Given the description of an element on the screen output the (x, y) to click on. 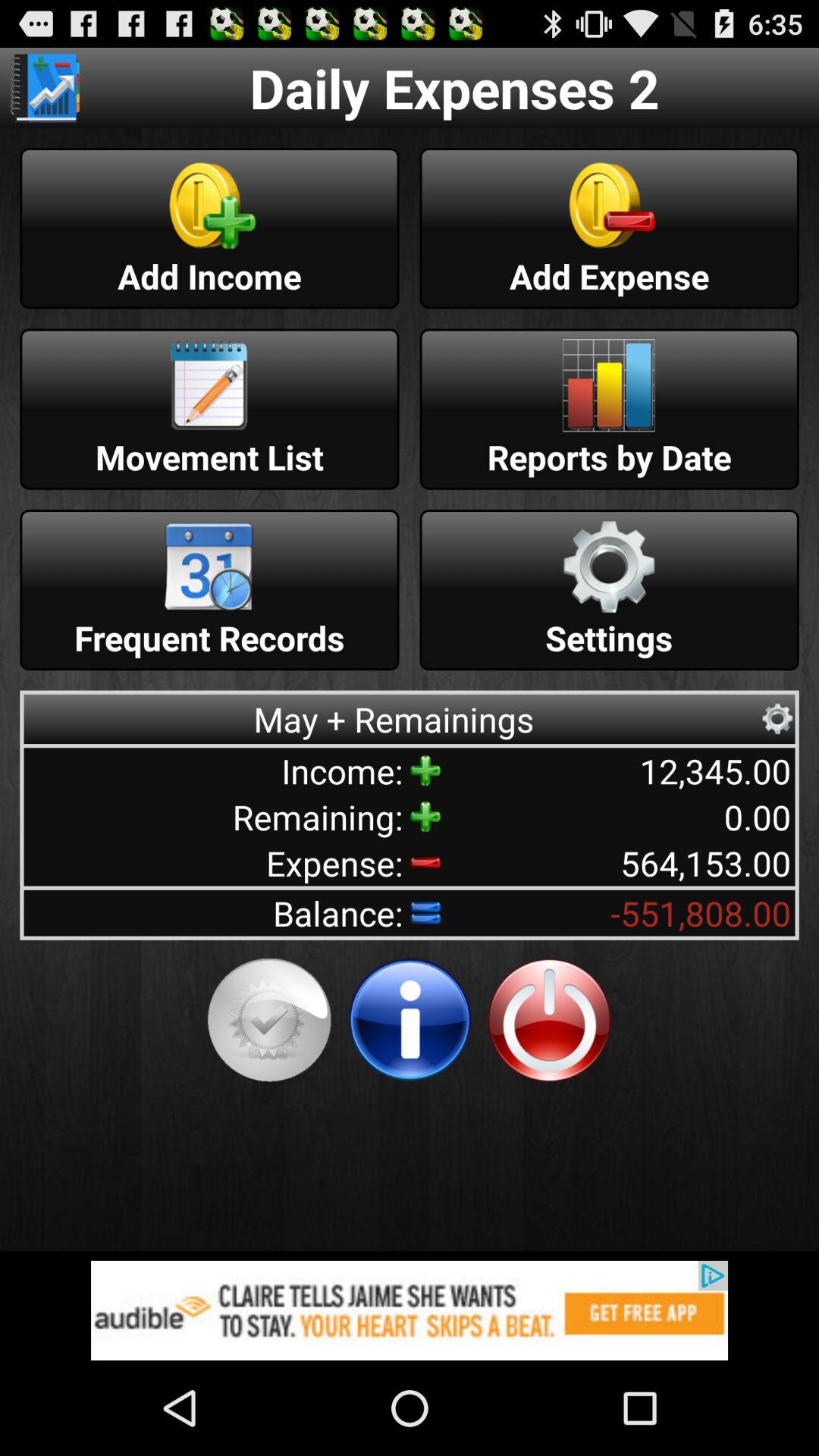
advertisement (409, 1310)
